Given the description of an element on the screen output the (x, y) to click on. 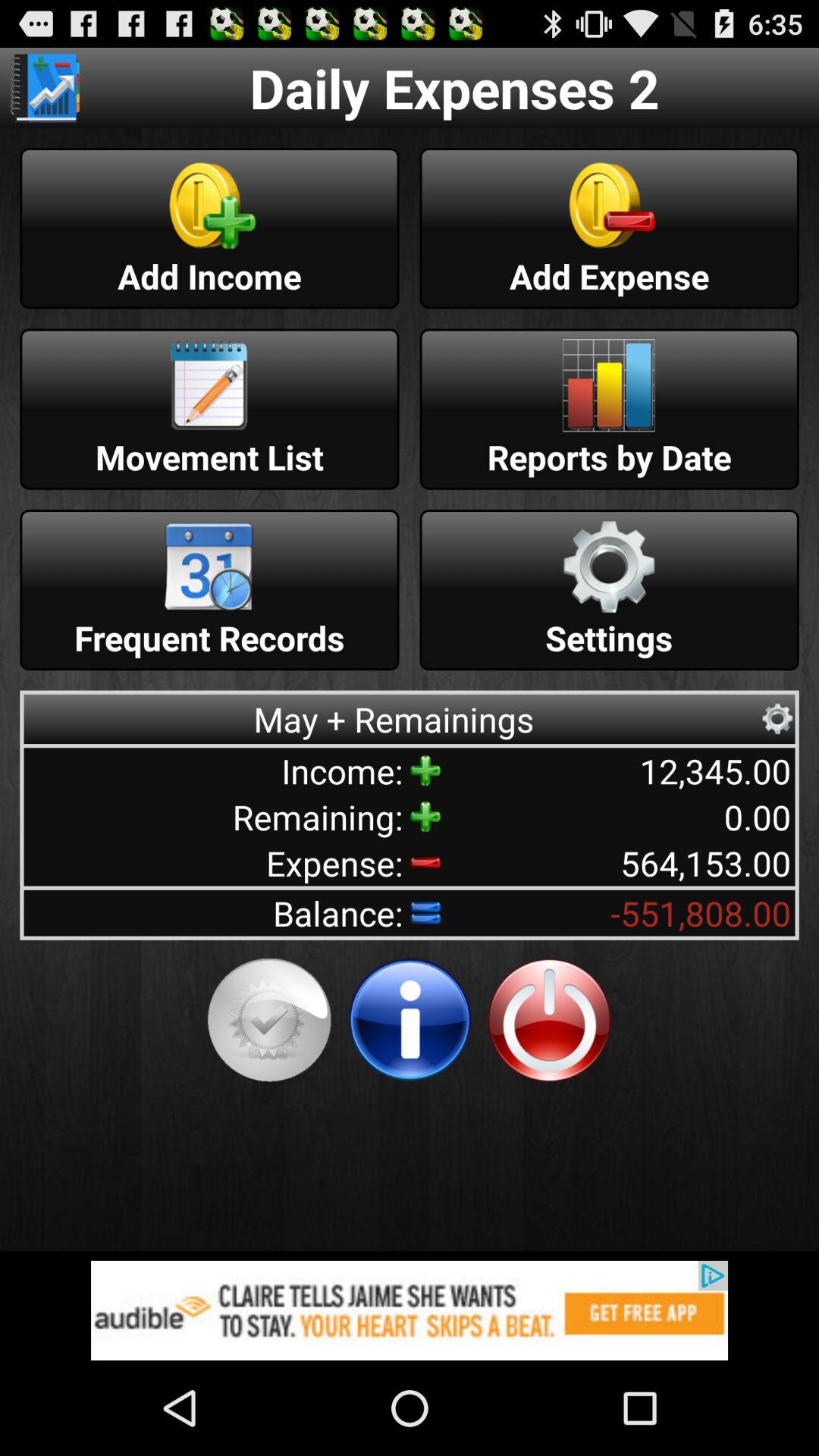
advertisement (409, 1310)
